Given the description of an element on the screen output the (x, y) to click on. 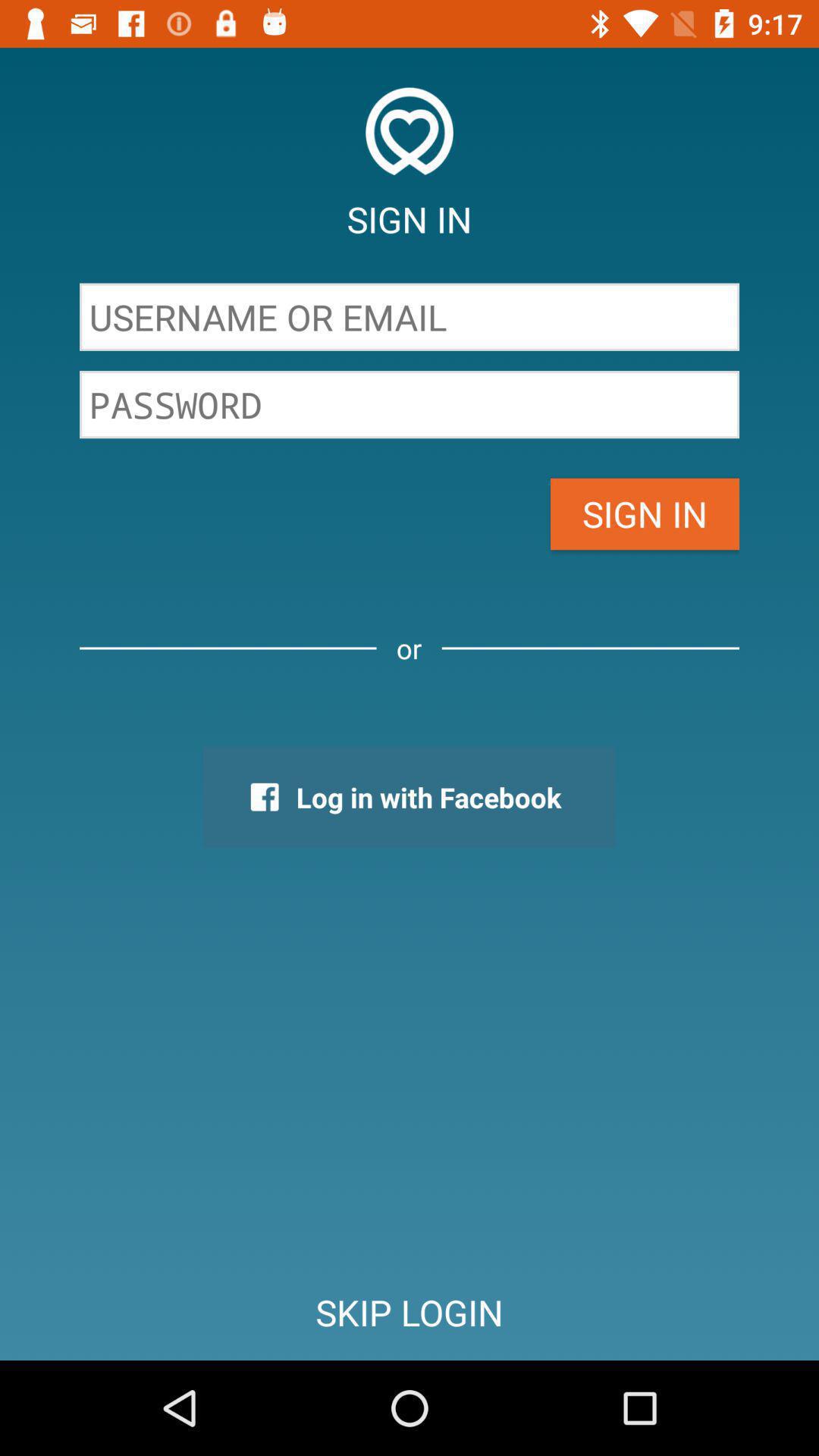
tap the icon above skip login (409, 797)
